Given the description of an element on the screen output the (x, y) to click on. 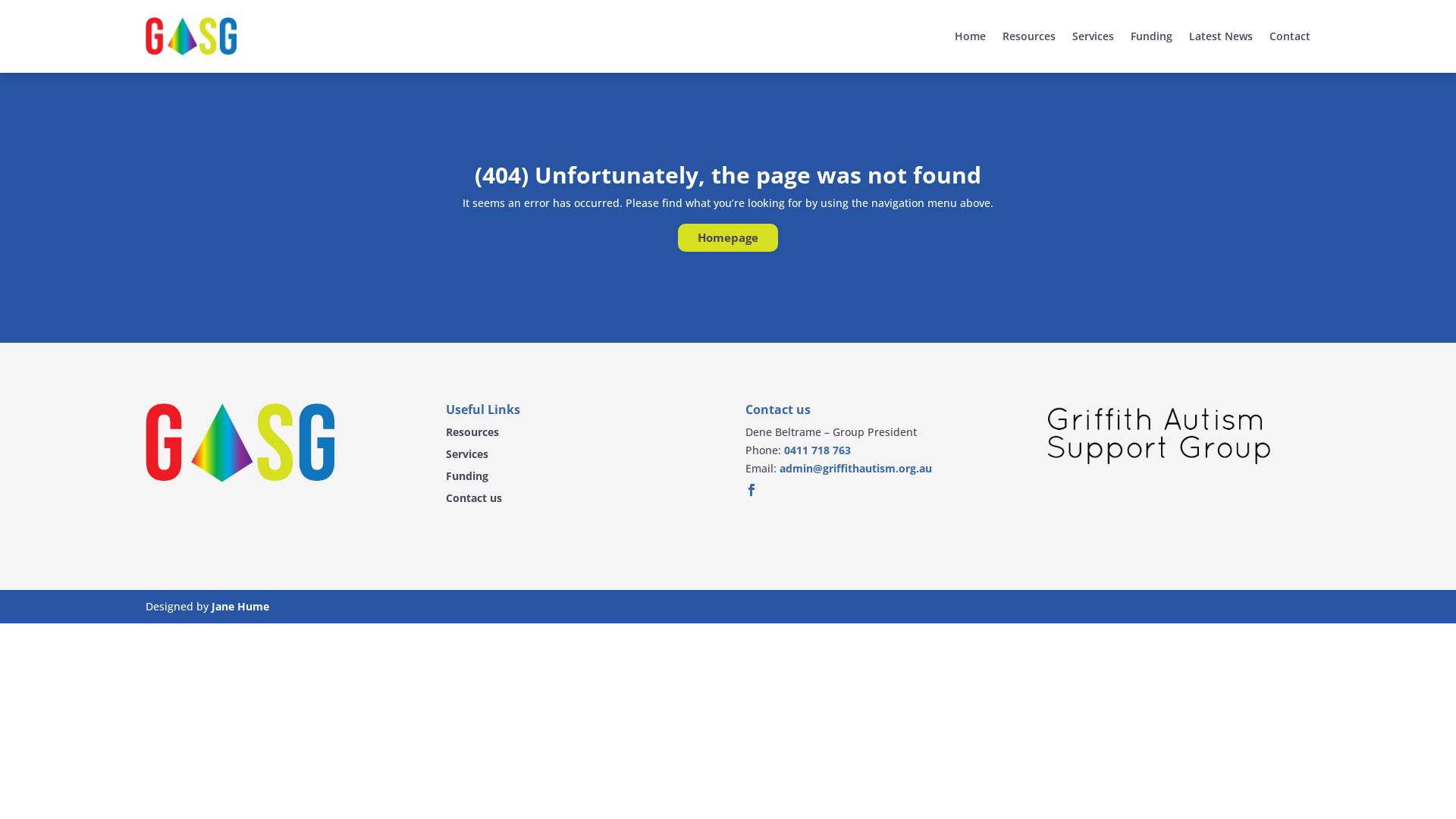
Contact Element type: text (1289, 36)
Latest News Element type: text (1220, 36)
0411 718 763 Element type: text (817, 449)
admin@griffithautism.org.au Element type: text (855, 468)
Homepage Element type: text (727, 237)
Resources Element type: text (471, 432)
Home Element type: text (969, 36)
Resources Element type: text (1028, 36)
Services Element type: text (1092, 36)
GASG_Logo_Text_left Element type: hover (1159, 433)
Funding Element type: text (1151, 36)
Contact us Element type: text (473, 498)
Services Element type: text (466, 454)
gasg-wordmark Element type: hover (239, 442)
Follow on Facebook Element type: hover (751, 489)
Funding Element type: text (466, 476)
